Given the description of an element on the screen output the (x, y) to click on. 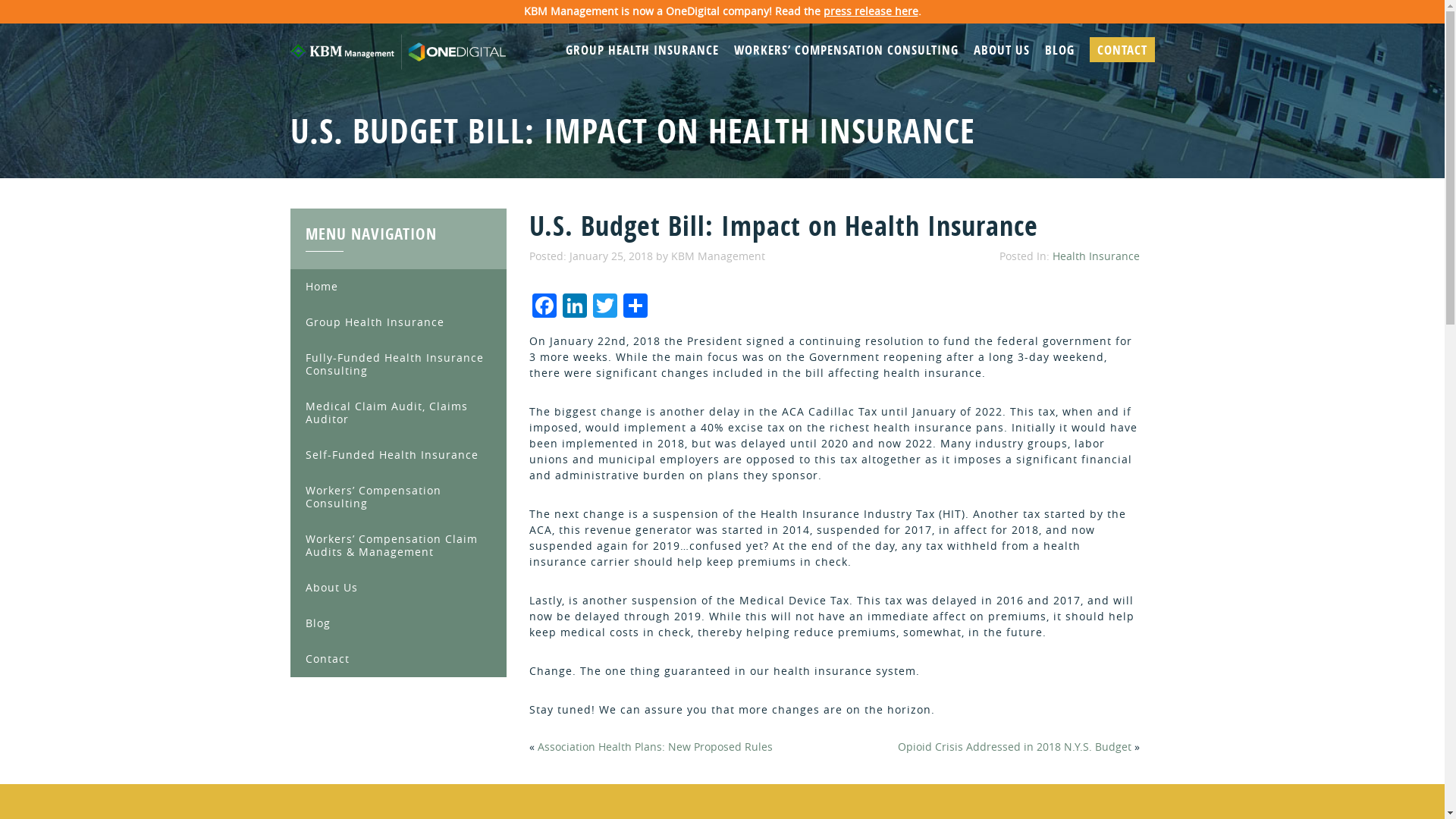
About Us (397, 588)
BLOG (1059, 49)
Fully-Funded Health Insurance Consulting (397, 364)
Twitter (604, 307)
Home (397, 286)
Group Health Insurance (397, 322)
Facebook (544, 307)
Twitter (604, 307)
Facebook (544, 307)
ABOUT US (1001, 49)
